Given the description of an element on the screen output the (x, y) to click on. 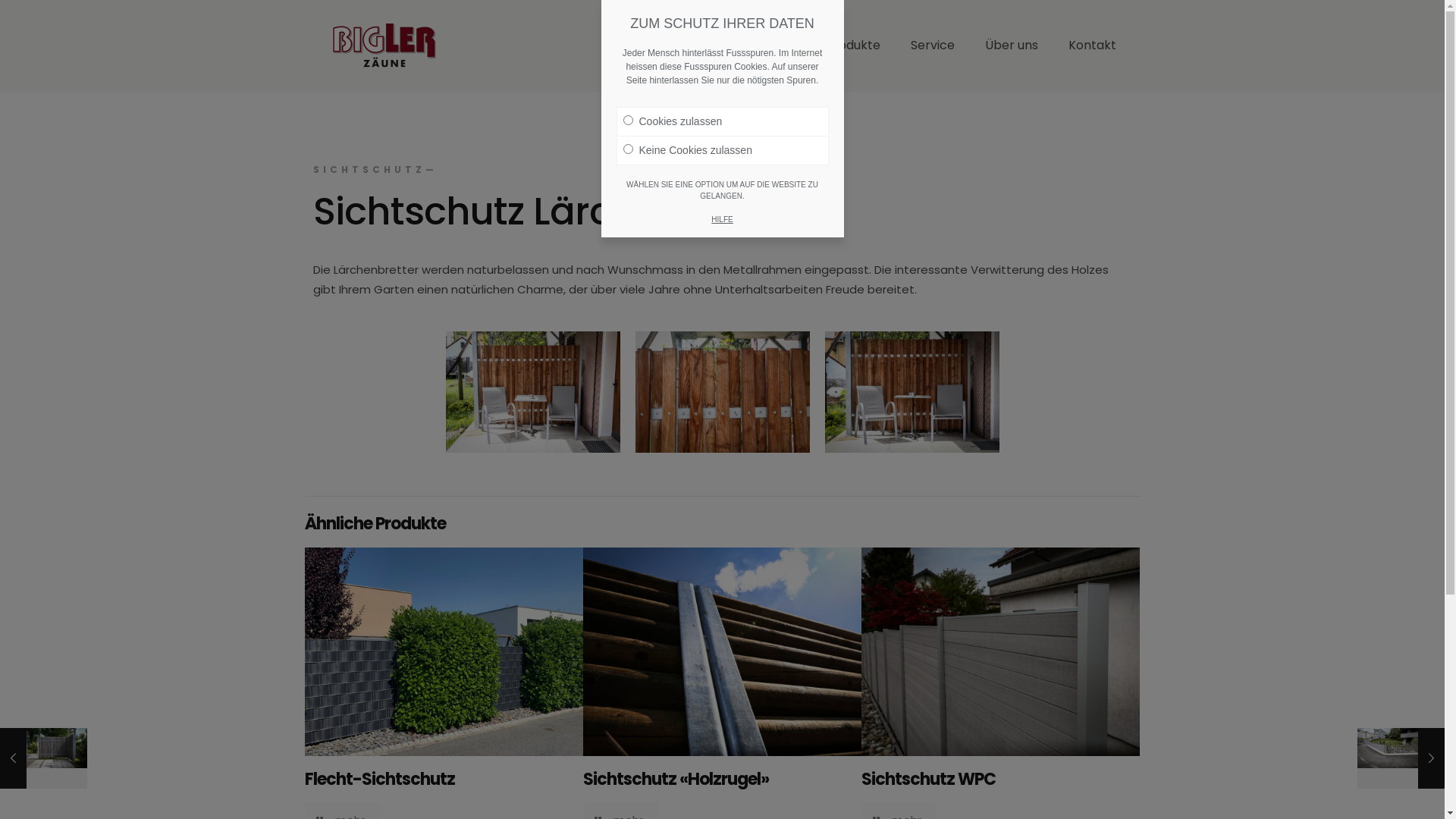
Service Element type: text (931, 45)
Flecht-Sichtschutz Element type: text (379, 778)
Kontakt Element type: text (1091, 45)
Home Element type: text (777, 45)
Sichtschutz WPC Element type: text (928, 778)
Produkte Element type: text (851, 45)
